Given the description of an element on the screen output the (x, y) to click on. 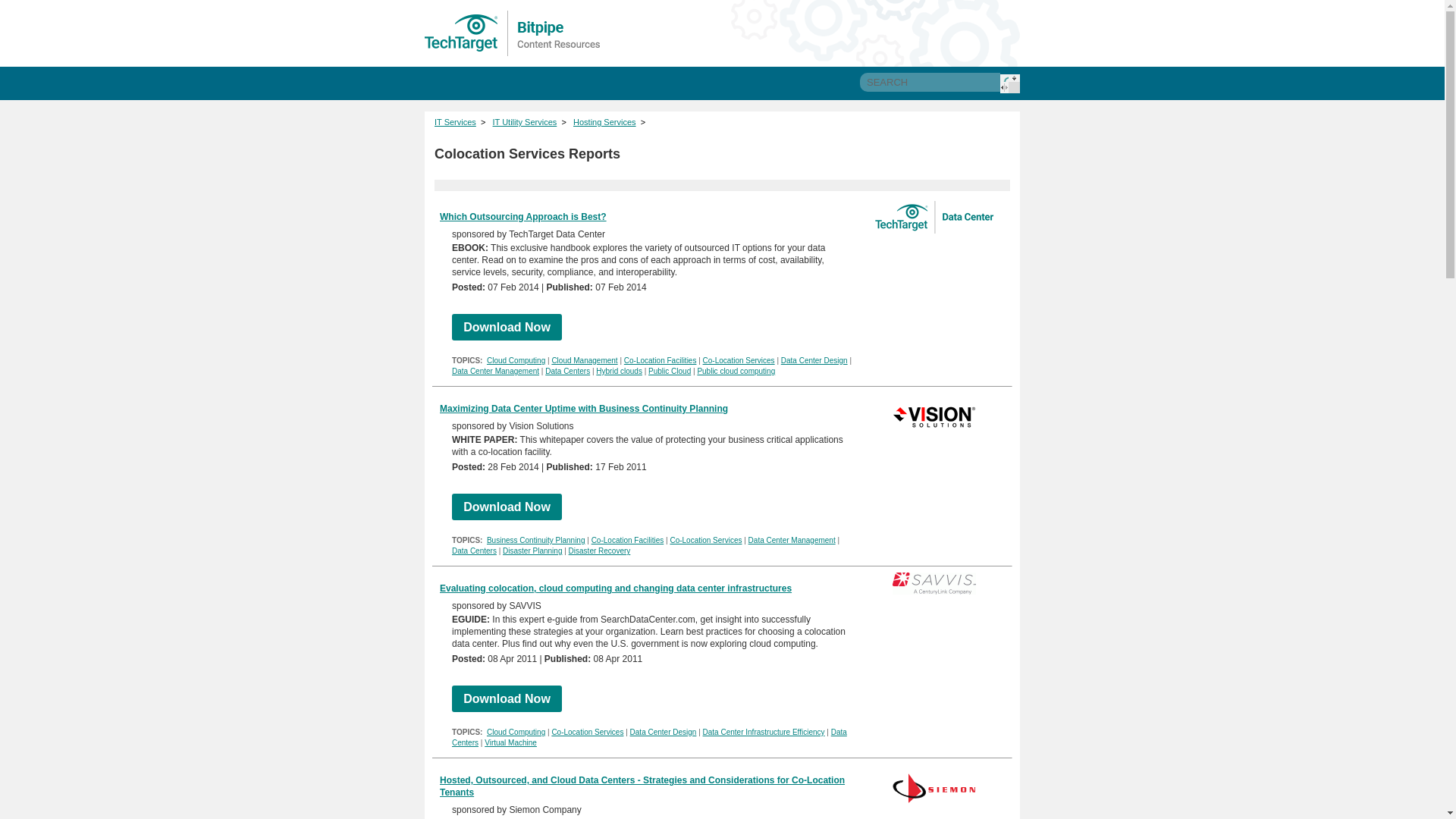
Disaster Recovery (599, 551)
Data Centers (649, 737)
Co-Location Facilities (627, 540)
Which Outsourcing Approach is Best? (523, 216)
Virtual Machine (510, 742)
Cloud Management (584, 360)
Cloud Computing (515, 732)
Go! (1010, 83)
Data Centers (473, 551)
Go! (1010, 83)
